Given the description of an element on the screen output the (x, y) to click on. 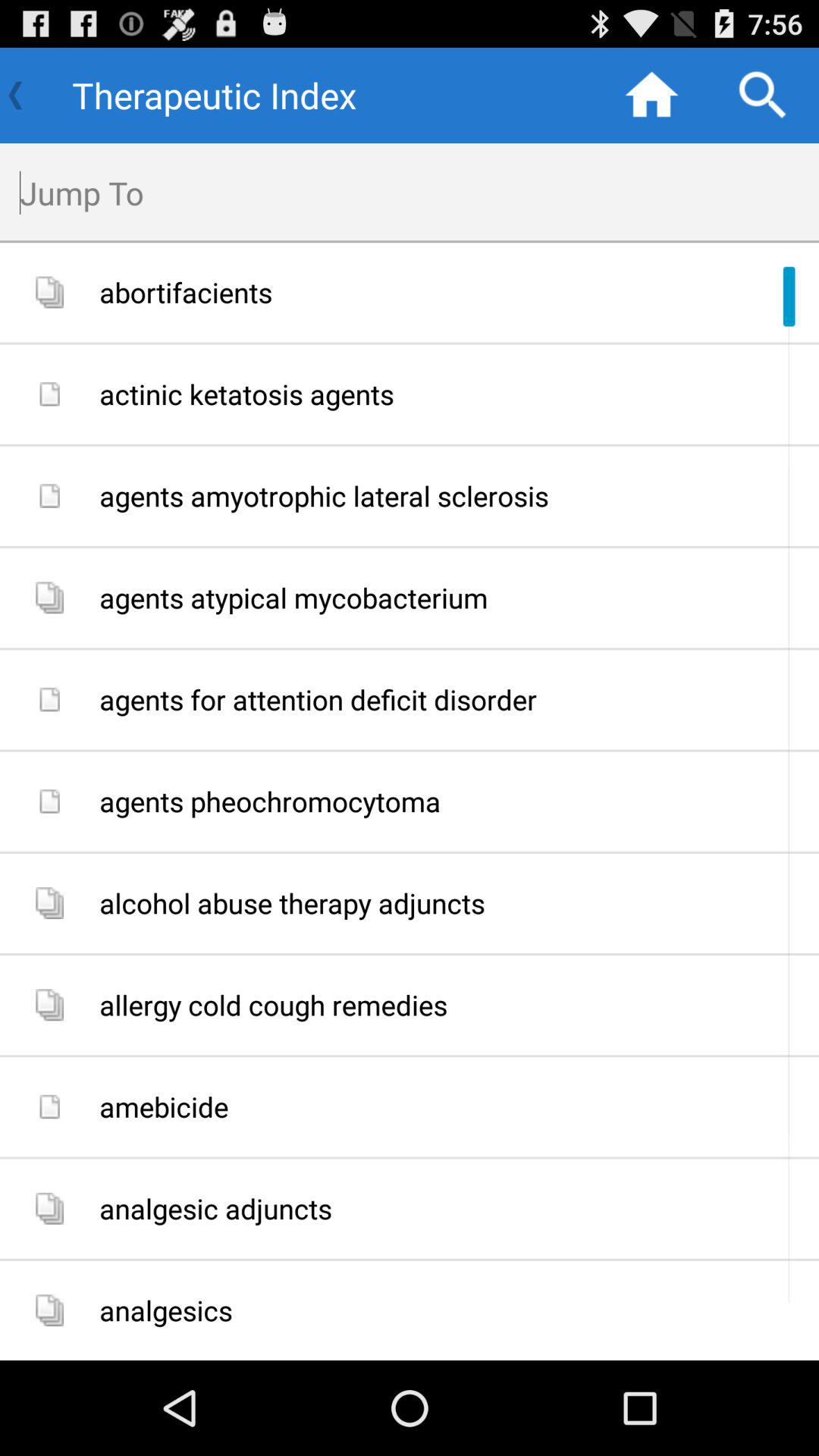
launch item above agents pheochromocytoma icon (453, 699)
